Given the description of an element on the screen output the (x, y) to click on. 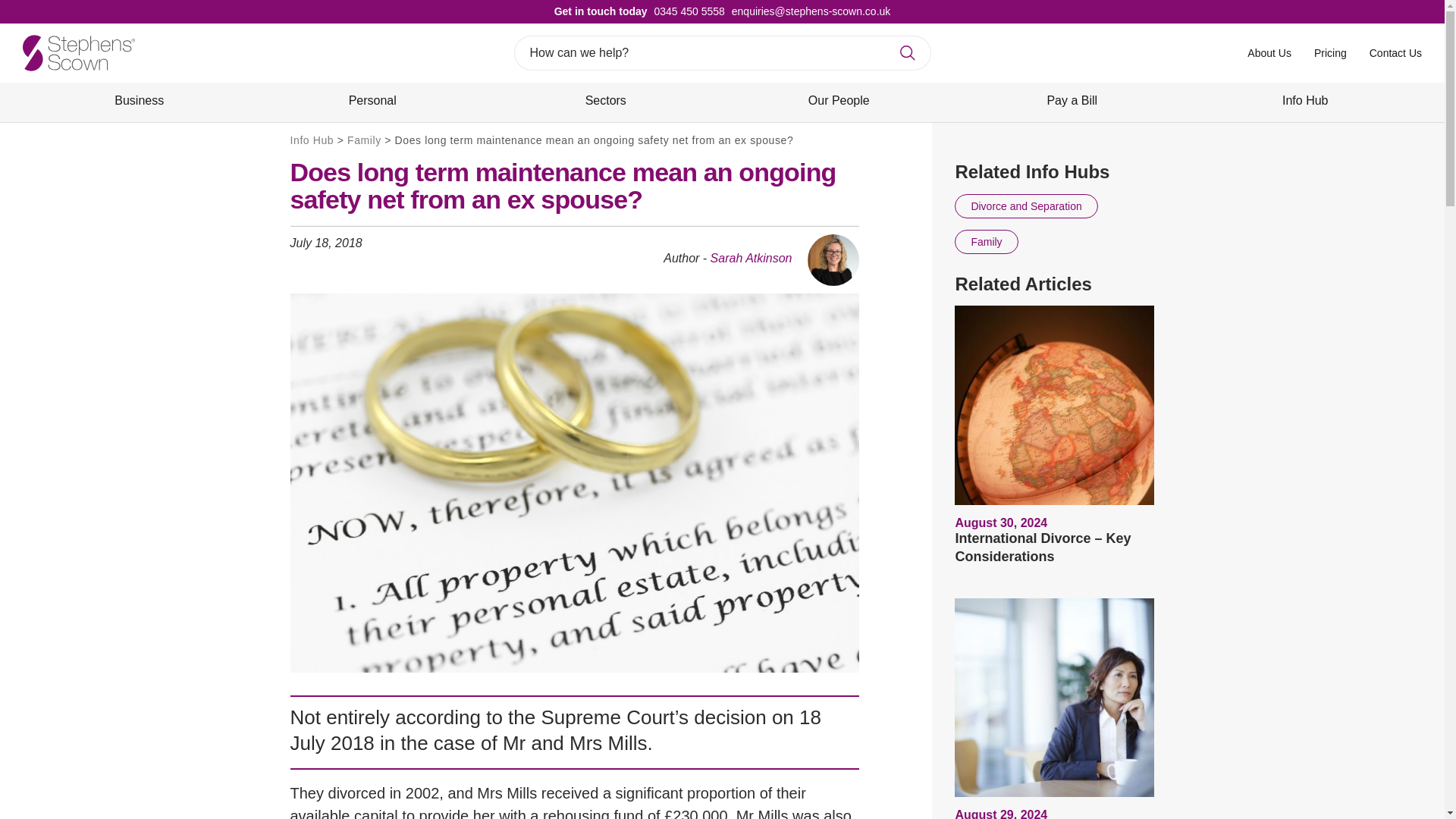
0345 450 5558 (686, 10)
Contact Us (1396, 52)
Go to the Info Hub Info hub Category archives. (311, 140)
Pricing (1330, 52)
About Us (1269, 52)
Go to the Family Info hub Category archives. (364, 140)
Posts by Sarah Atkinson (751, 257)
